Given the description of an element on the screen output the (x, y) to click on. 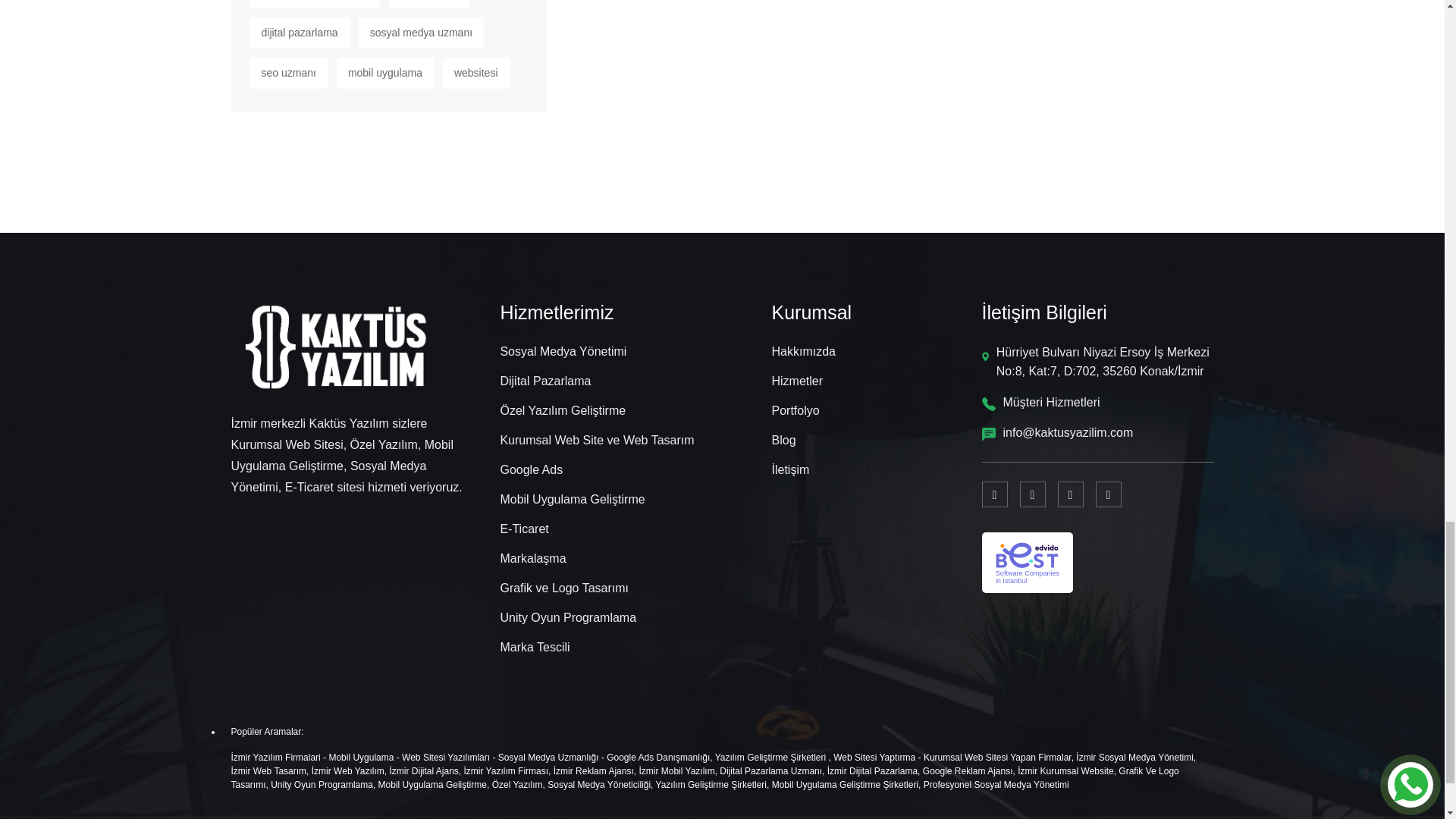
dijital pazarlama (299, 32)
websitesi (475, 72)
mobil uygulama (384, 72)
